Given the description of an element on the screen output the (x, y) to click on. 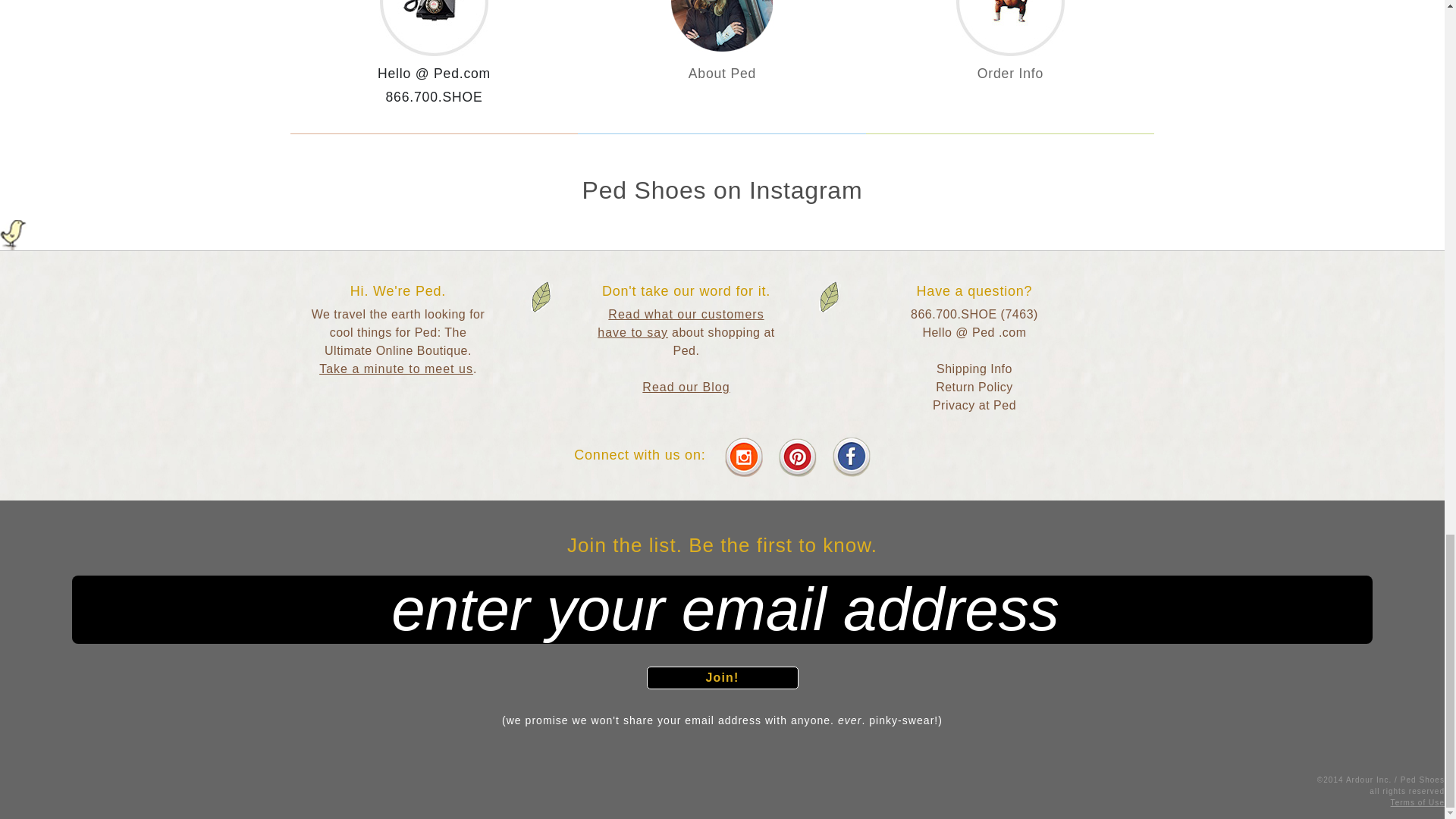
enter your email address (722, 609)
